Given the description of an element on the screen output the (x, y) to click on. 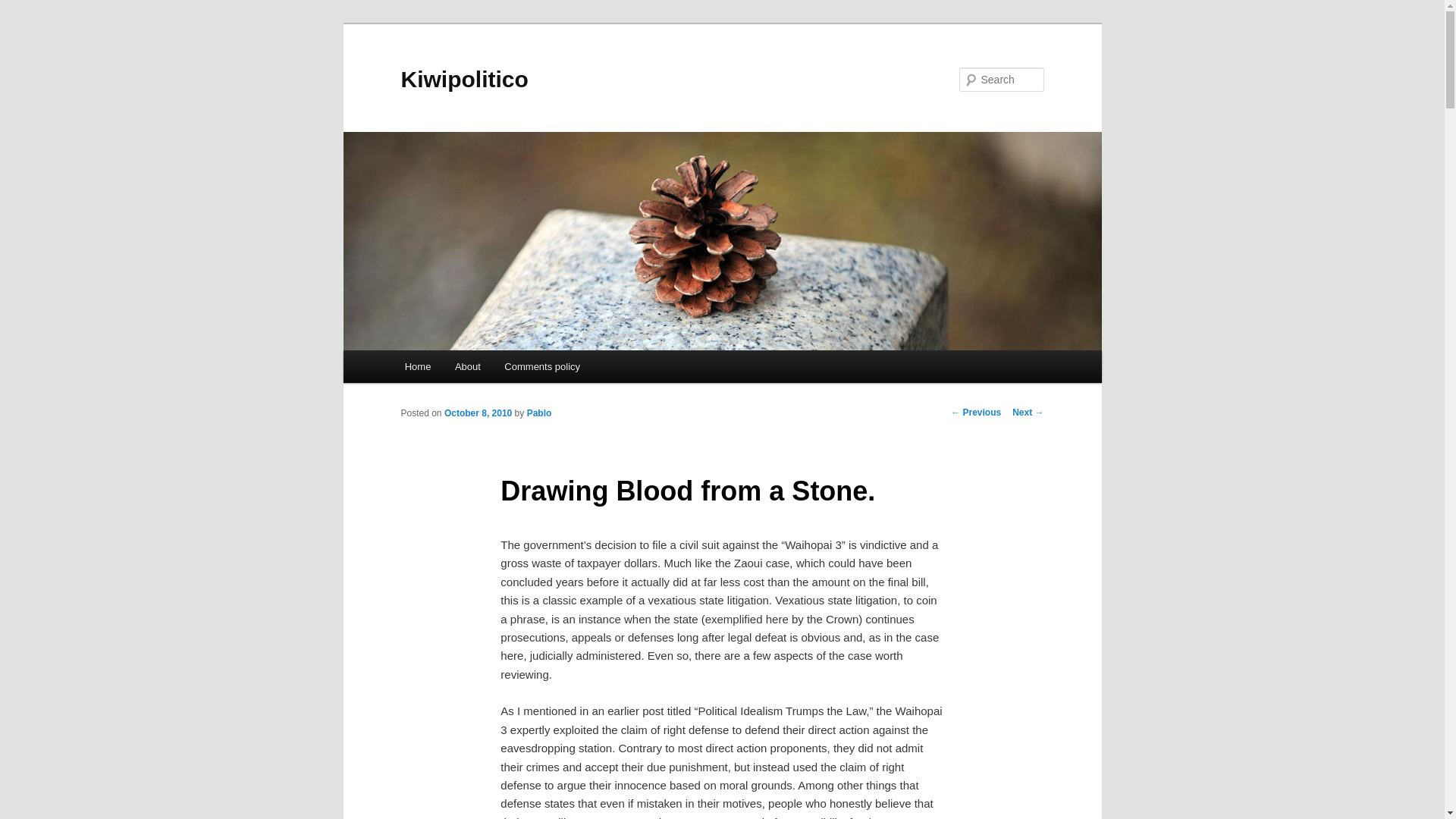
Comments policy (542, 366)
About (467, 366)
Pablo (539, 412)
Home (417, 366)
View all posts by Pablo (539, 412)
October 8, 2010 (478, 412)
Kiwipolitico (463, 78)
19:59 (478, 412)
Search (24, 8)
